Given the description of an element on the screen output the (x, y) to click on. 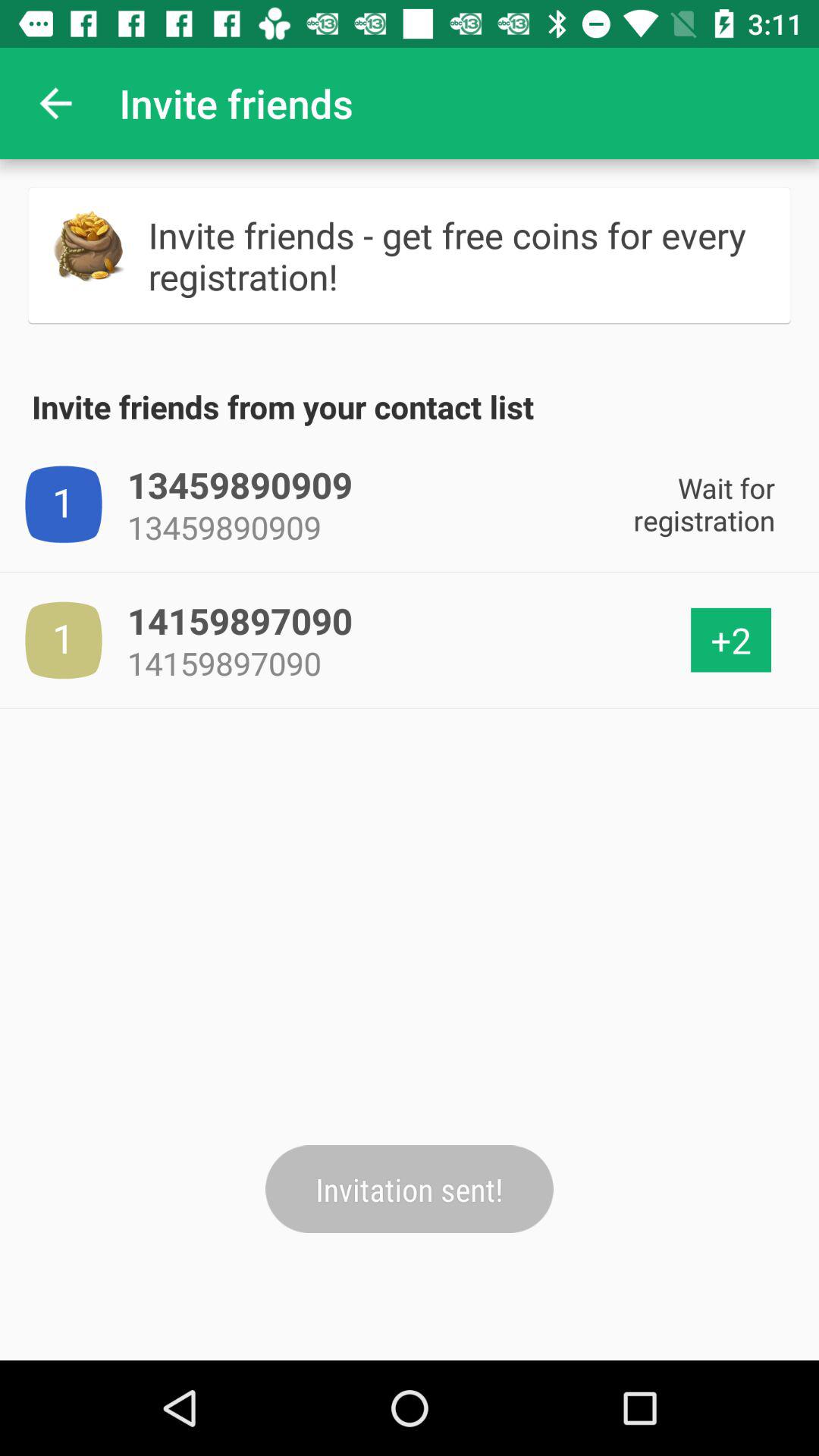
click the item below wait for
registration icon (731, 639)
